Given the description of an element on the screen output the (x, y) to click on. 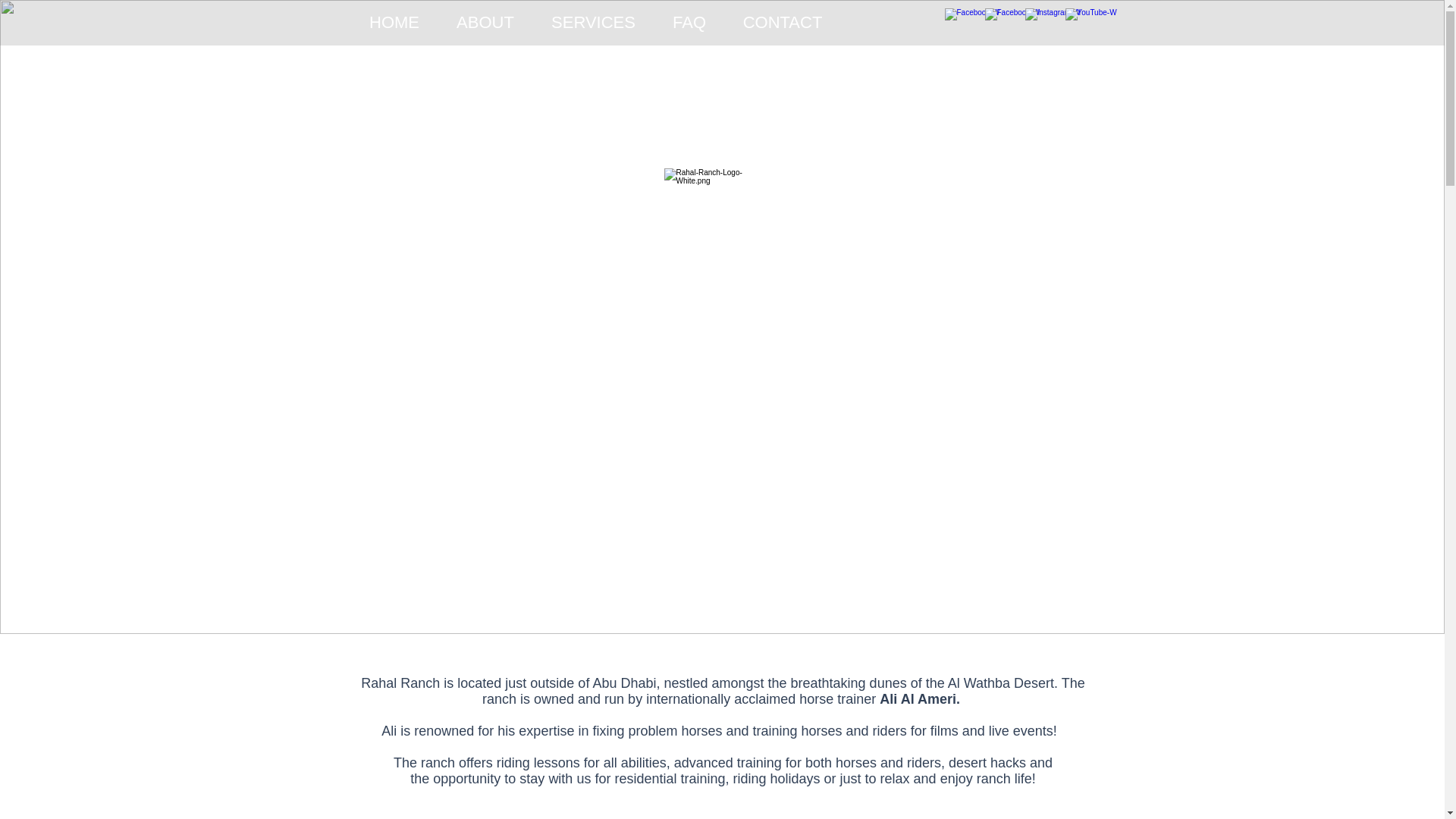
SERVICES (592, 22)
HOME (394, 22)
FAQ (688, 22)
CONTACT (783, 22)
ABOUT (485, 22)
